Given the description of an element on the screen output the (x, y) to click on. 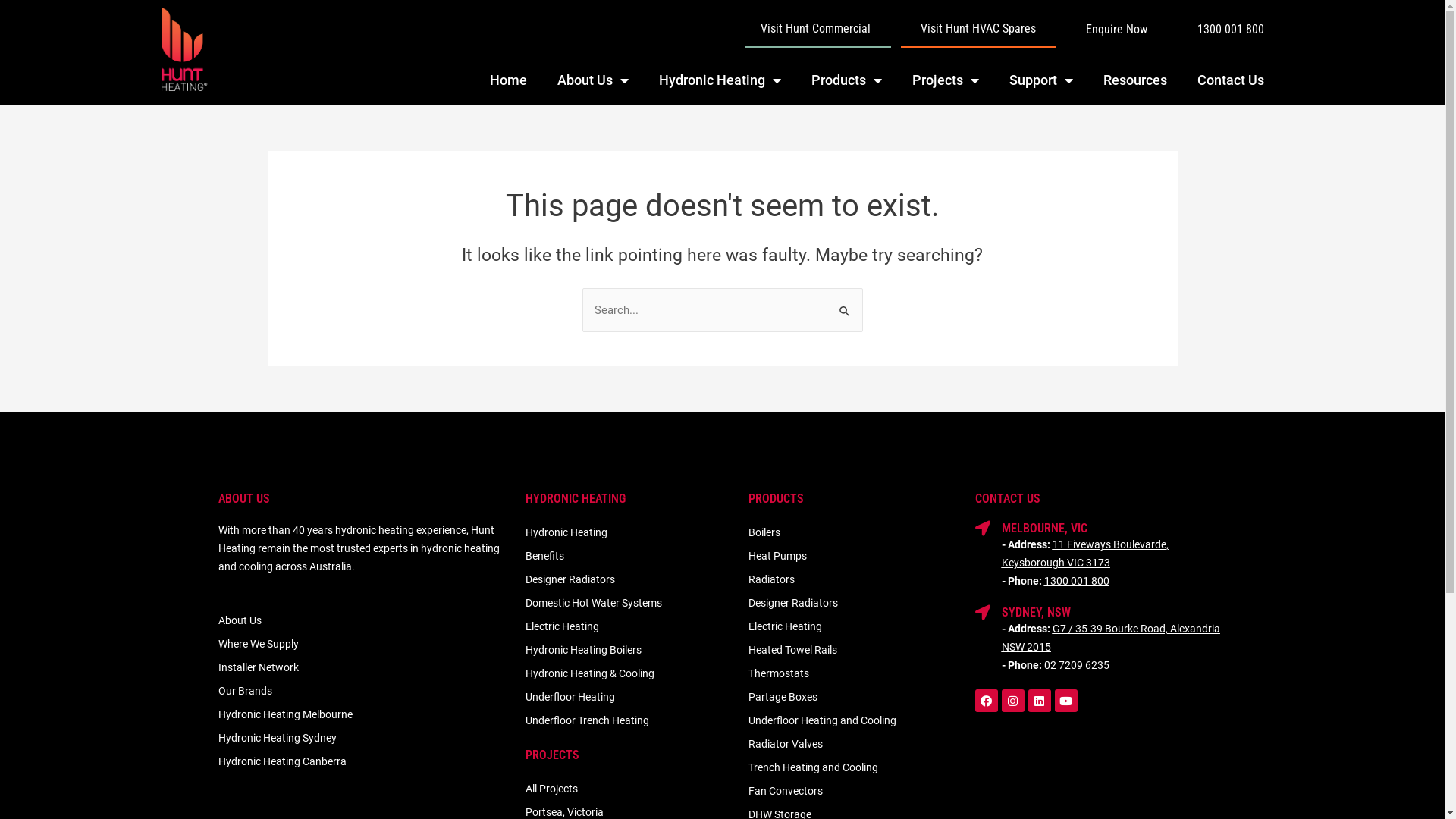
Contact Us Element type: text (1230, 79)
Thermostats Element type: text (853, 673)
Where We Supply Element type: text (364, 643)
Heat Pumps Element type: text (853, 555)
Benefits Element type: text (628, 555)
Facebook Element type: text (986, 700)
Installer Network Element type: text (364, 667)
Partage Boxes Element type: text (853, 697)
Radiator Valves Element type: text (853, 744)
Projects Element type: text (945, 79)
Hydronic Heating Element type: text (719, 79)
Products Element type: text (846, 79)
Underfloor Heating and Cooling Element type: text (853, 720)
Underfloor Trench Heating Element type: text (628, 720)
Our Brands Element type: text (364, 690)
Visit Hunt HVAC Spares Element type: text (978, 28)
About Us Element type: text (592, 79)
1300 001 800 Element type: text (1076, 580)
Instagram Element type: text (1012, 700)
Trench Heating and Cooling Element type: text (853, 767)
G7 / 35-39 Bourke Road, Alexandria NSW 2015 Element type: text (1110, 637)
Underfloor Heating Element type: text (628, 697)
Enquire Now Element type: text (1116, 29)
Radiators Element type: text (853, 579)
Home Element type: text (508, 79)
1300 001 800 Element type: text (1230, 29)
Support Element type: text (1041, 79)
Boilers Element type: text (853, 532)
Fan Convectors Element type: text (853, 791)
Youtube Element type: text (1065, 700)
Linkedin Element type: text (1039, 700)
Electric Heating Element type: text (628, 626)
About Us Element type: text (364, 620)
Designer Radiators Element type: text (853, 603)
Electric Heating Element type: text (853, 626)
Designer Radiators Element type: text (628, 579)
Hydronic Heating Sydney Element type: text (364, 737)
11 Fiveways Boulevarde, Keysborough VIC 3173 Element type: text (1084, 553)
Hydronic Heating Boilers Element type: text (628, 650)
Domestic Hot Water Systems Element type: text (628, 603)
02 7209 6235 Element type: text (1076, 664)
Hydronic Heating & Cooling Element type: text (628, 673)
Visit Hunt Commercial Element type: text (815, 28)
Resources Element type: text (1135, 79)
Hydronic Heating Element type: text (628, 532)
Hydronic Heating Canberra Element type: text (364, 761)
Heated Towel Rails Element type: text (853, 650)
Hydronic Heating Melbourne Element type: text (364, 714)
All Projects Element type: text (628, 788)
Search Element type: text (845, 303)
